Given the description of an element on the screen output the (x, y) to click on. 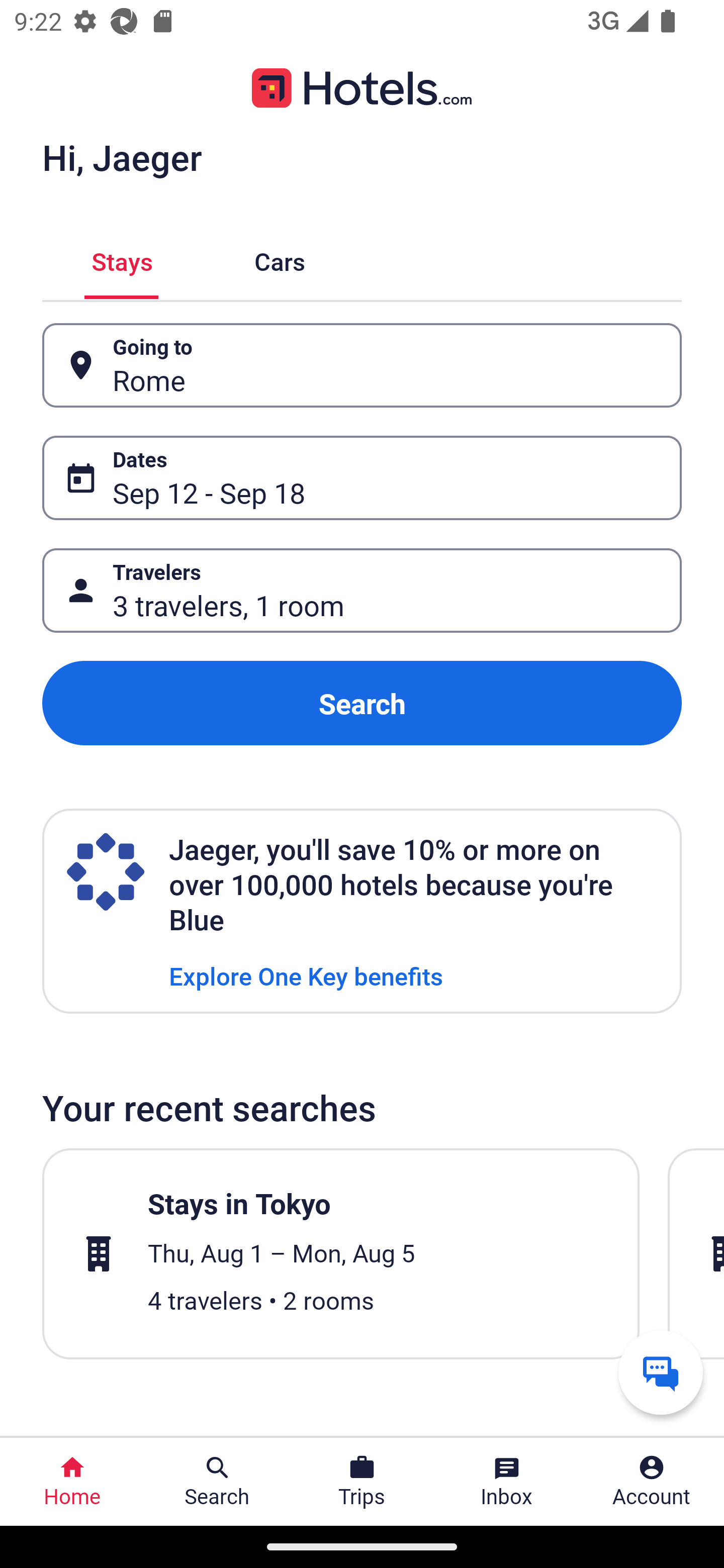
Hi, Jaeger (121, 156)
Cars (279, 259)
Going to Button Rome (361, 365)
Dates Button Sep 12 - Sep 18 (361, 477)
Travelers Button 3 travelers, 1 room (361, 590)
Search (361, 702)
Get help from a virtual agent (660, 1371)
Search Search Button (216, 1481)
Trips Trips Button (361, 1481)
Inbox Inbox Button (506, 1481)
Account Profile. Button (651, 1481)
